Given the description of an element on the screen output the (x, y) to click on. 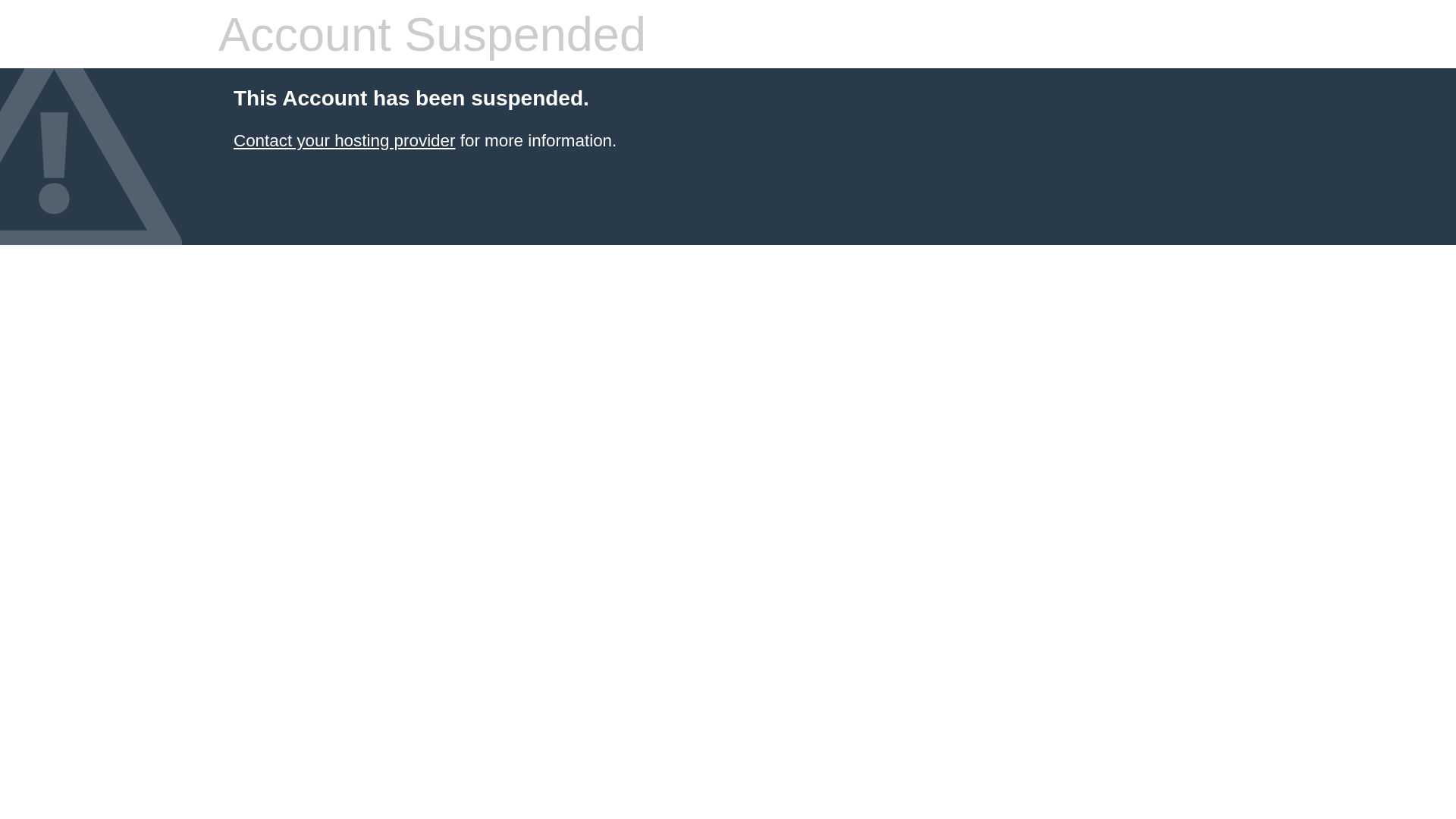
Contact your hosting provider Element type: text (344, 140)
